Given the description of an element on the screen output the (x, y) to click on. 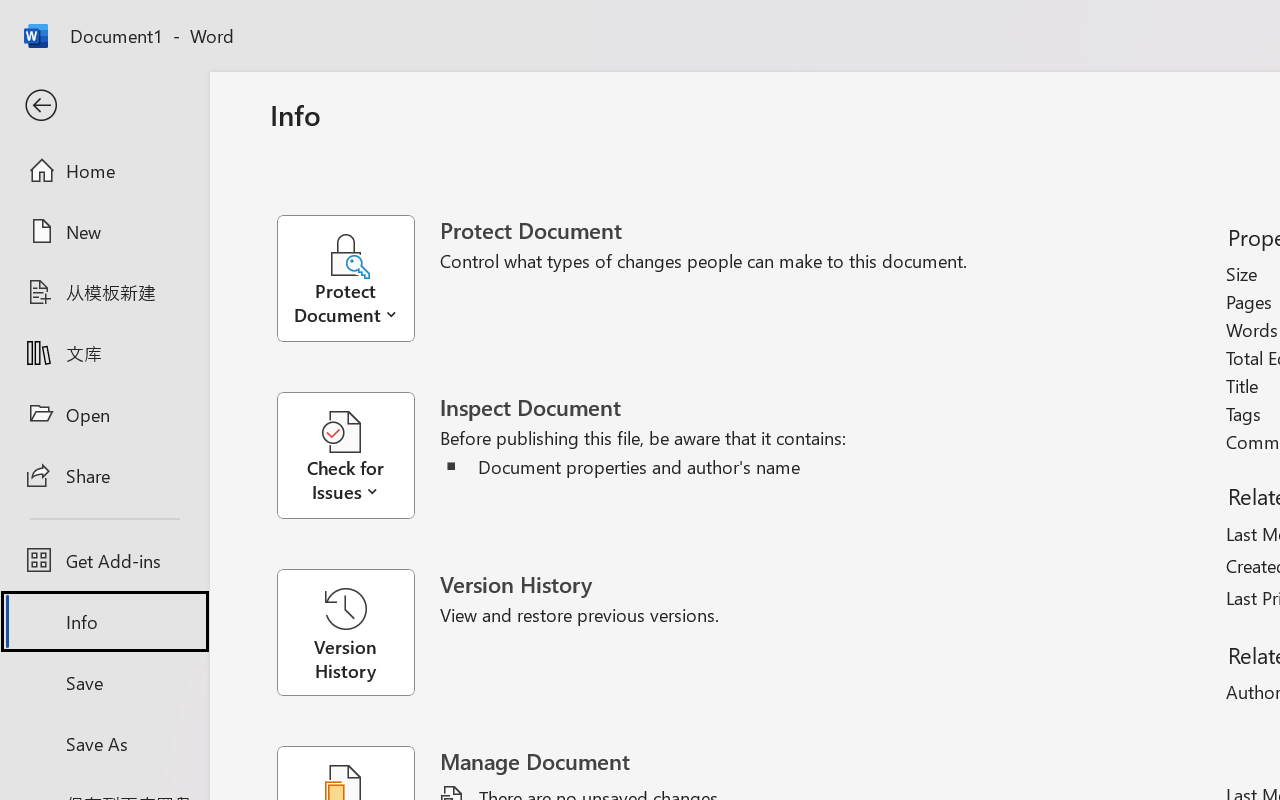
New (104, 231)
Info (104, 621)
Version History (345, 632)
Get Add-ins (104, 560)
Back (104, 106)
Save As (104, 743)
Protect Document (358, 278)
